Given the description of an element on the screen output the (x, y) to click on. 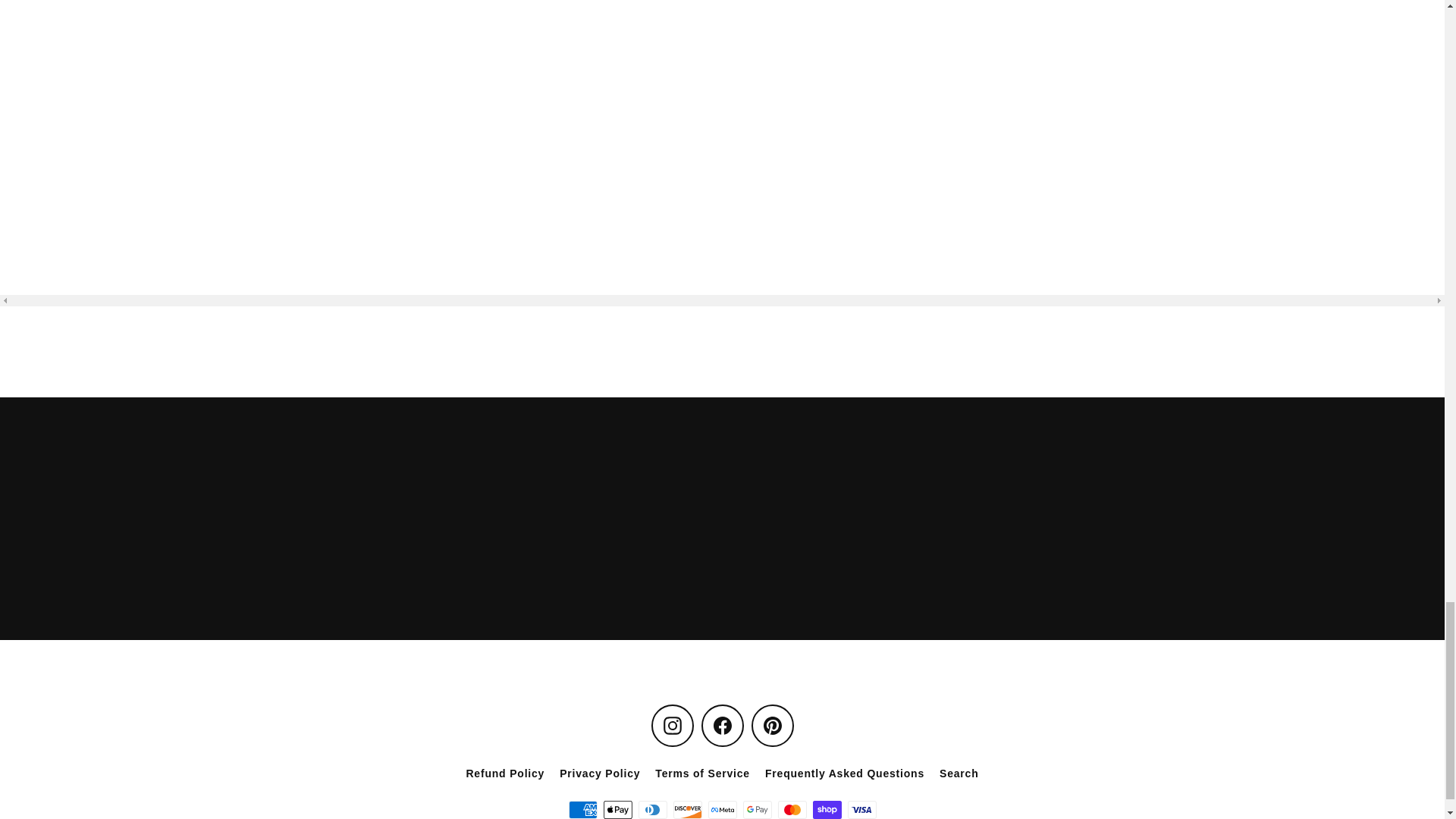
Aquatic Arts on Pinterest (772, 725)
Aquatic Arts on Facebook (721, 725)
Google Pay (756, 809)
Apple Pay (617, 809)
Mastercard (791, 809)
Diners Club (652, 809)
Shop Pay (826, 809)
Aquatic Arts on Instagram (671, 725)
American Express (582, 809)
Discover (686, 809)
Meta Pay (721, 809)
